Given the description of an element on the screen output the (x, y) to click on. 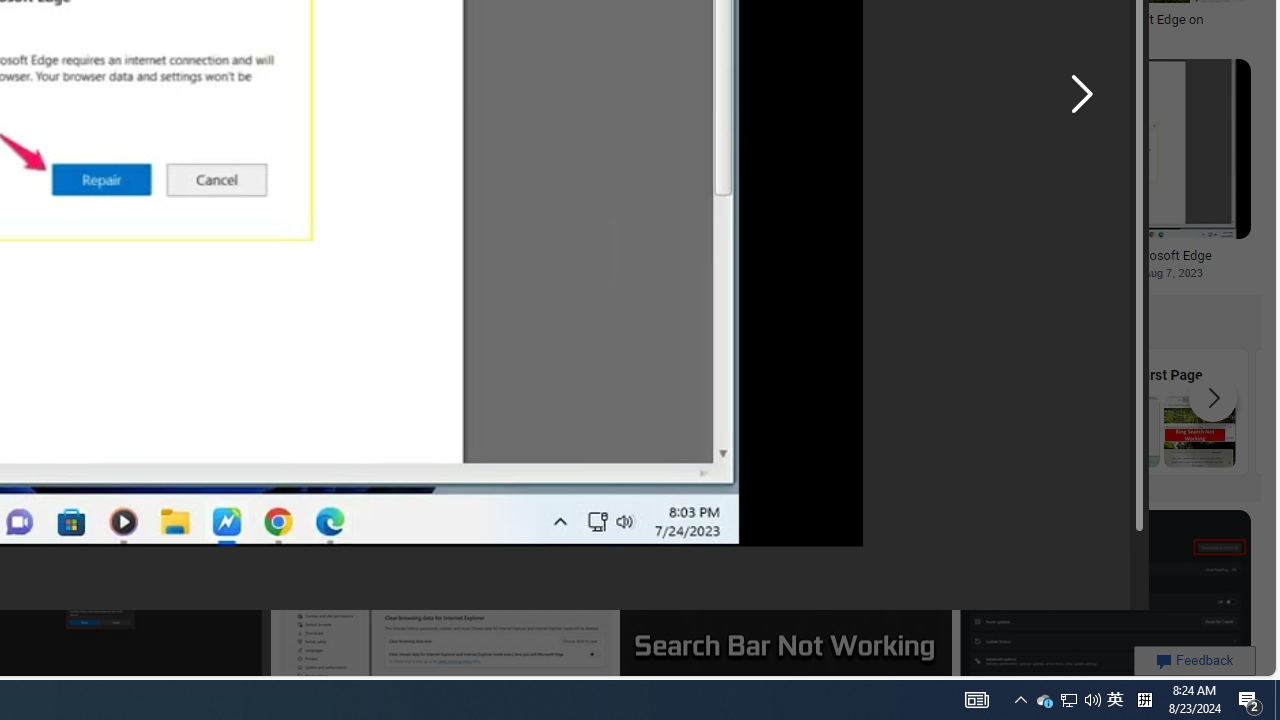
Bing Search Bar Not Working Bar (621, 411)
Image result for Bing Search Not Working (1105, 602)
Fix Bing search not working in Microsoft Edge (1095, 255)
